Given the description of an element on the screen output the (x, y) to click on. 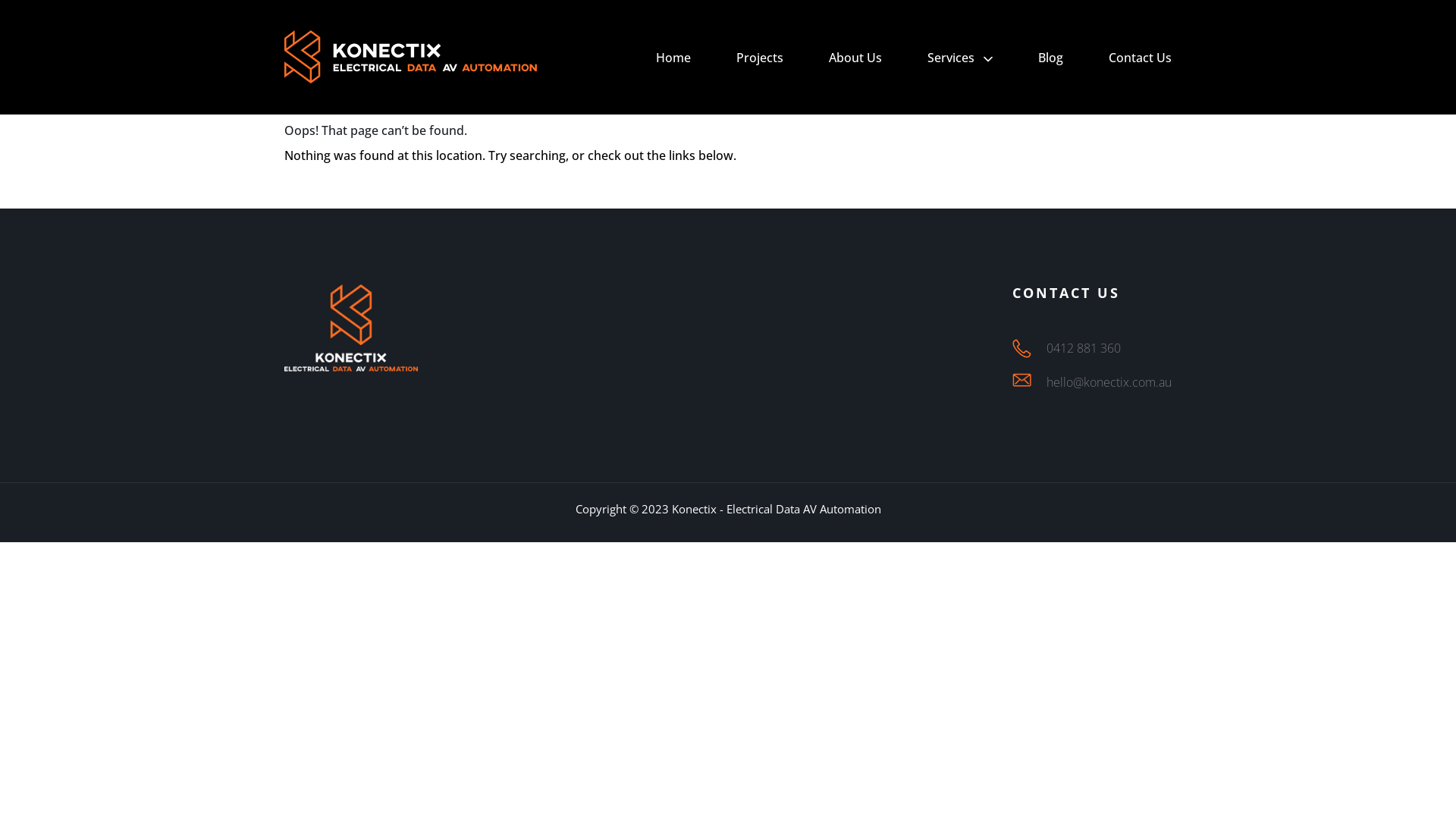
BACK TO HOME Element type: text (359, 190)
Projects Element type: text (759, 57)
hello@konectix.com.au Element type: text (1108, 382)
Services Element type: text (950, 57)
Contact Us Element type: text (1139, 57)
Blog Element type: text (1050, 57)
About Us Element type: text (854, 57)
Home Element type: text (672, 57)
0412 881 360 Element type: text (1083, 347)
